Given the description of an element on the screen output the (x, y) to click on. 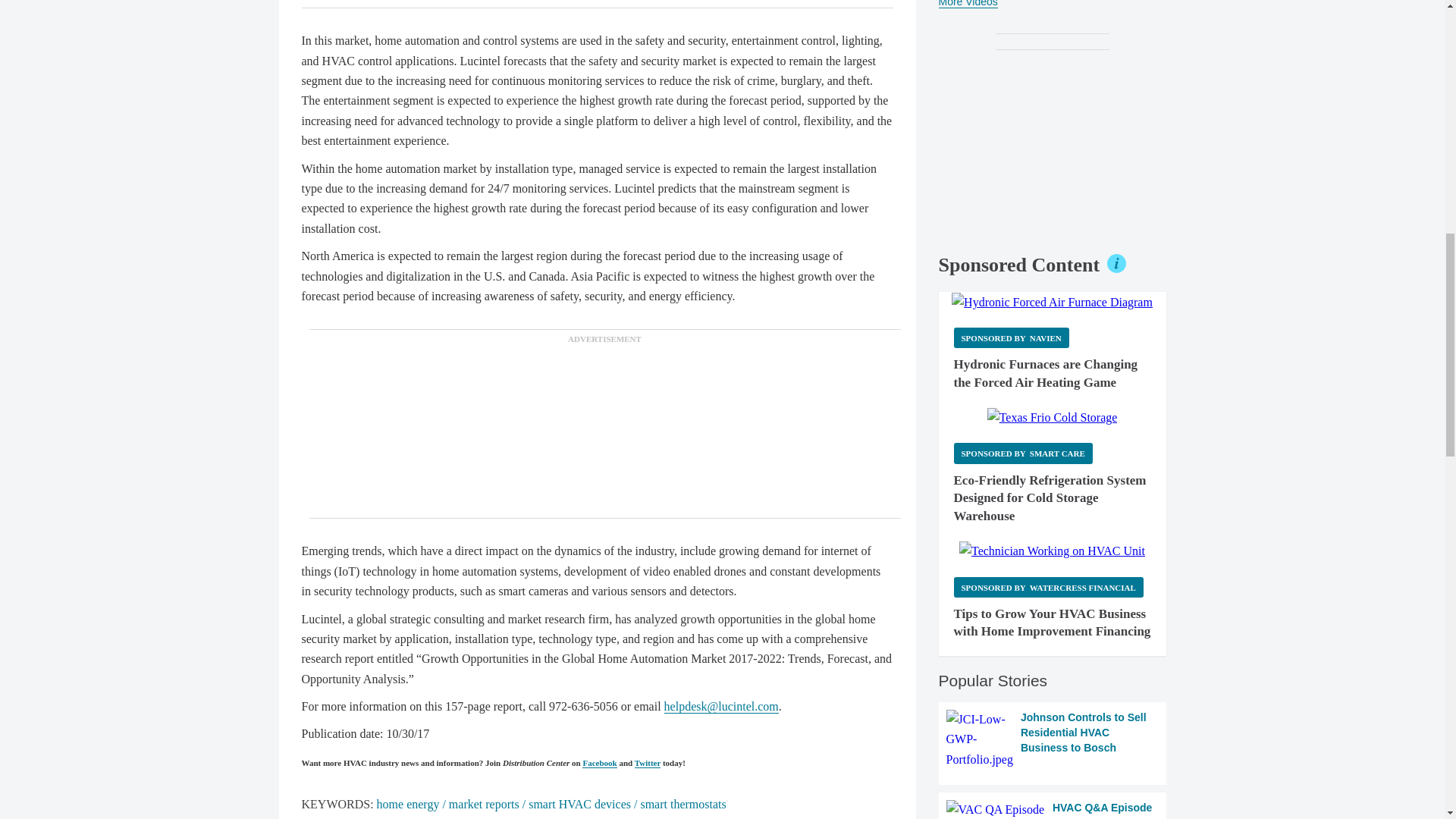
Texas Frio Cold Storage (1052, 417)
Sponsored by Watercress Financial (1047, 586)
Johnson Controls to Sell Residential HVAC Business to Bosch (1052, 739)
Sponsored by Navien (1010, 337)
Hydronic Forced Air Furnace Diagram (1052, 302)
Sponsored by Smart Care (1023, 453)
Technician Working on HVAC Unit (1051, 551)
